Given the description of an element on the screen output the (x, y) to click on. 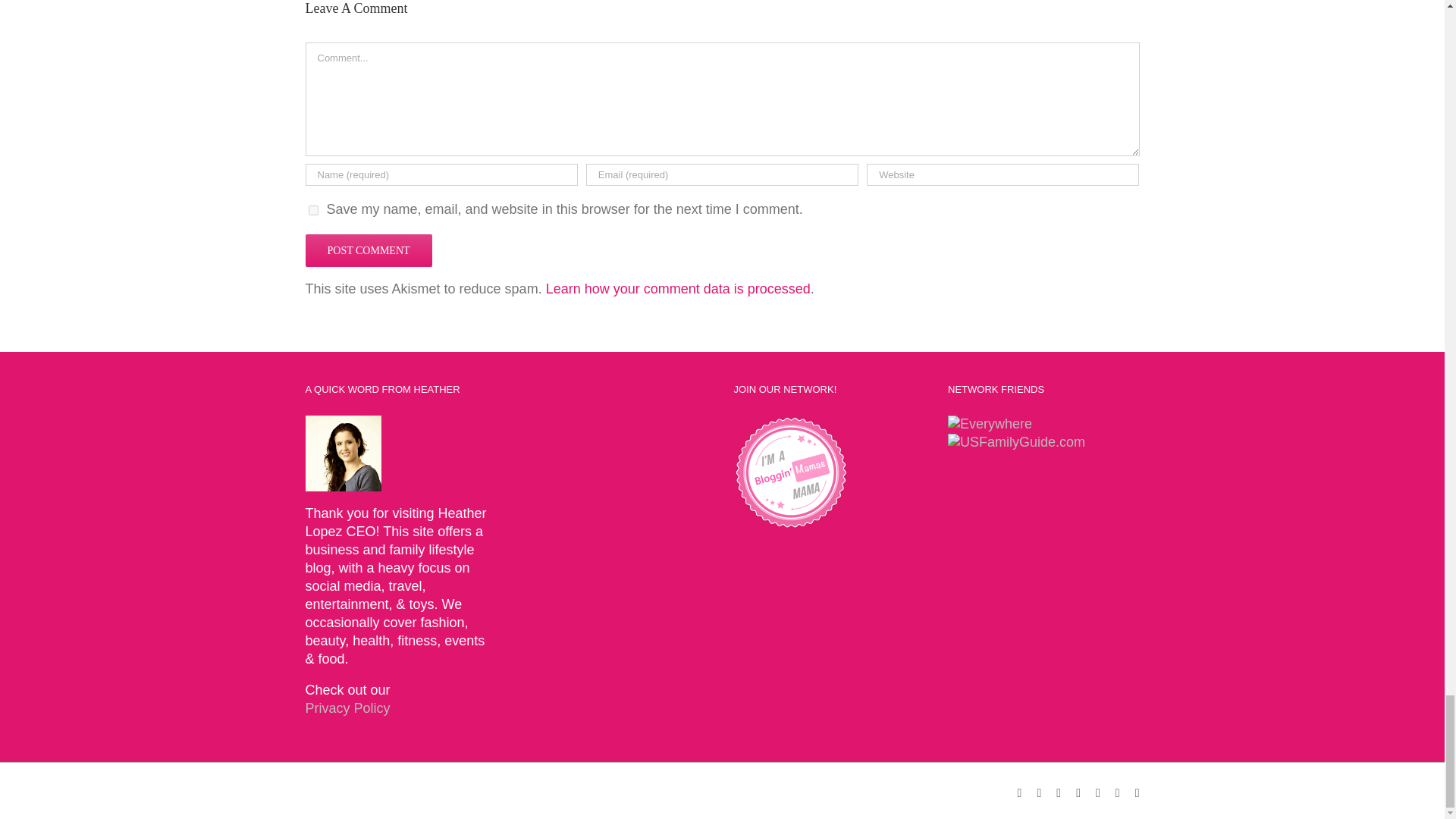
yes (312, 210)
Post Comment (367, 250)
